Given the description of an element on the screen output the (x, y) to click on. 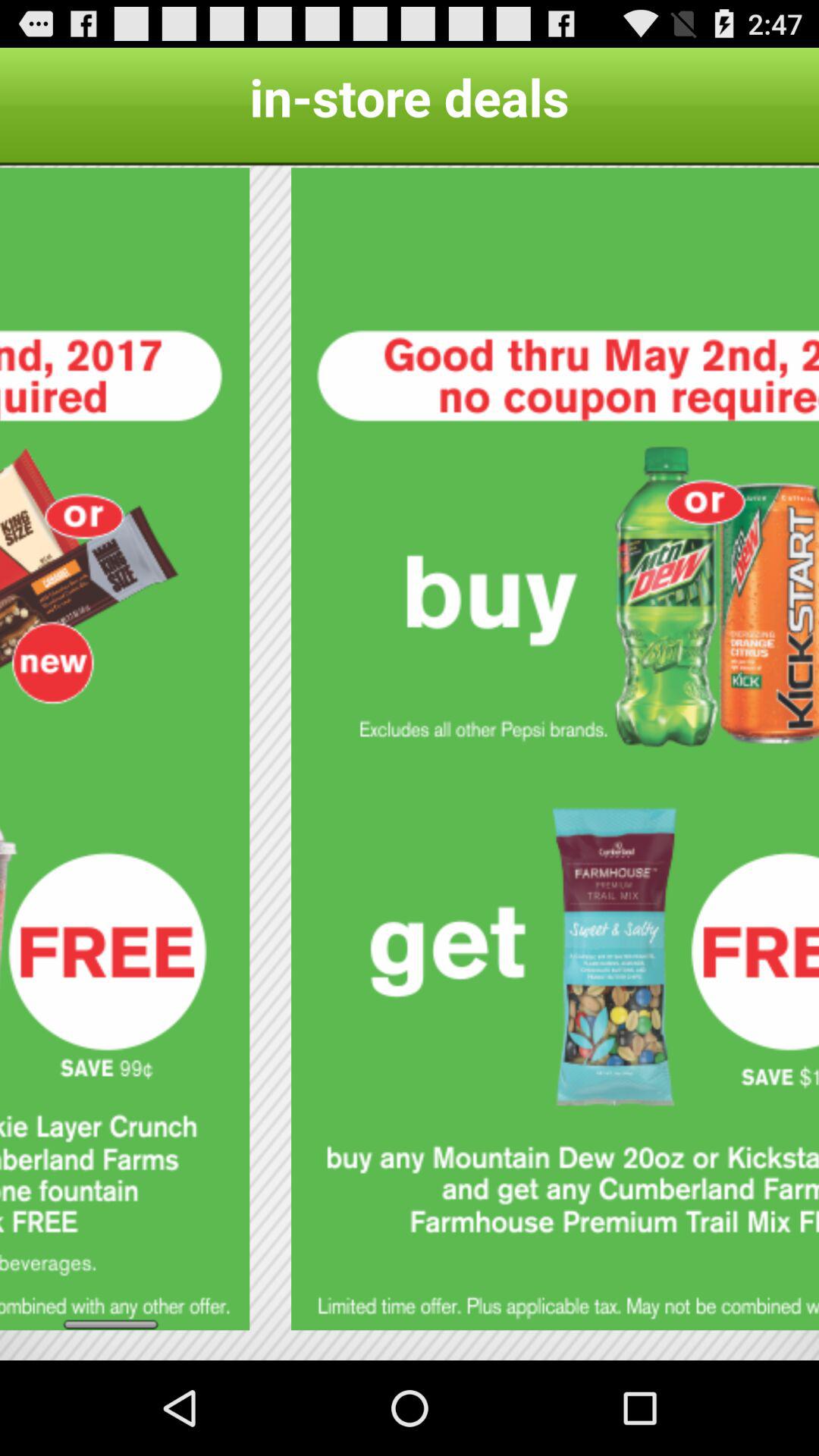
advertisement (124, 748)
